Given the description of an element on the screen output the (x, y) to click on. 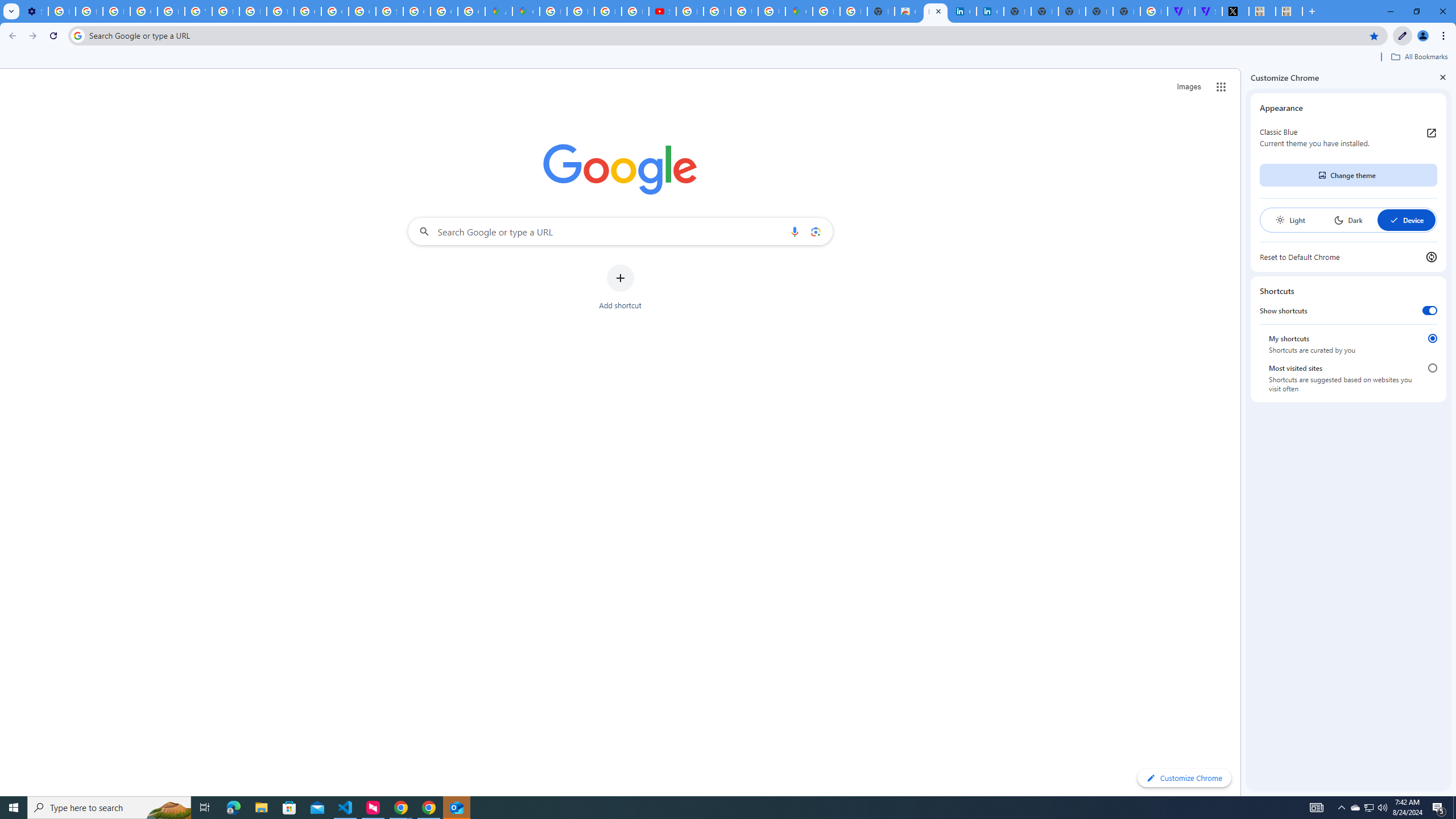
Bookmarks (728, 58)
Classic Blue Current theme you have installed. (1347, 137)
Cookie Policy | LinkedIn (990, 11)
Privacy Help Center - Policies Help (580, 11)
Search Google or type a URL (619, 230)
Google Maps (799, 11)
Miley Cyrus (@MileyCyrus) / X (1235, 11)
Add shortcut (620, 287)
MILEY CYRUS. (1262, 11)
